Given the description of an element on the screen output the (x, y) to click on. 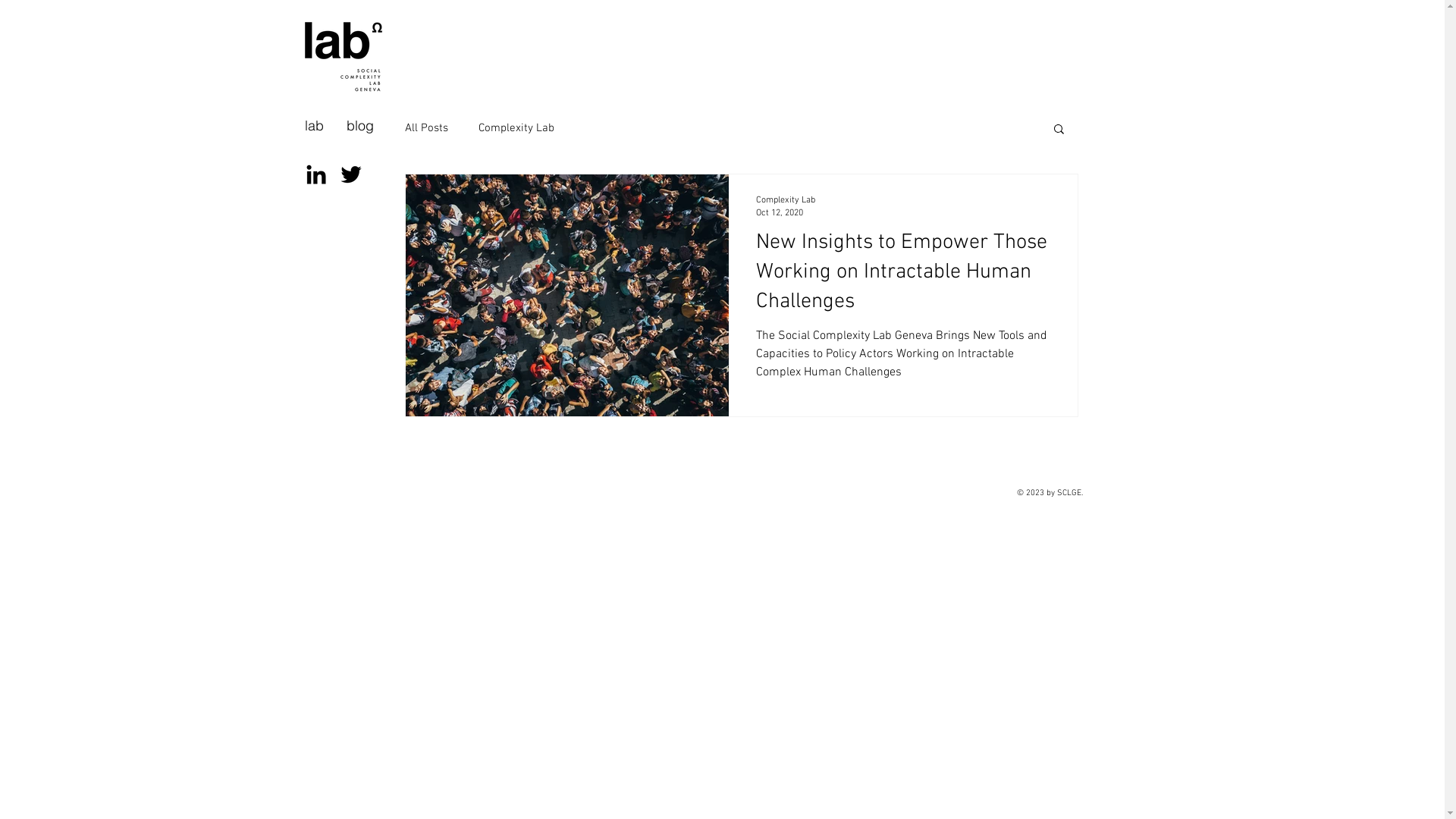
Complexity Lab Element type: text (515, 127)
Complexity Lab Element type: text (784, 199)
blog Element type: text (360, 125)
All Posts Element type: text (426, 127)
lab Element type: text (313, 125)
